Given the description of an element on the screen output the (x, y) to click on. 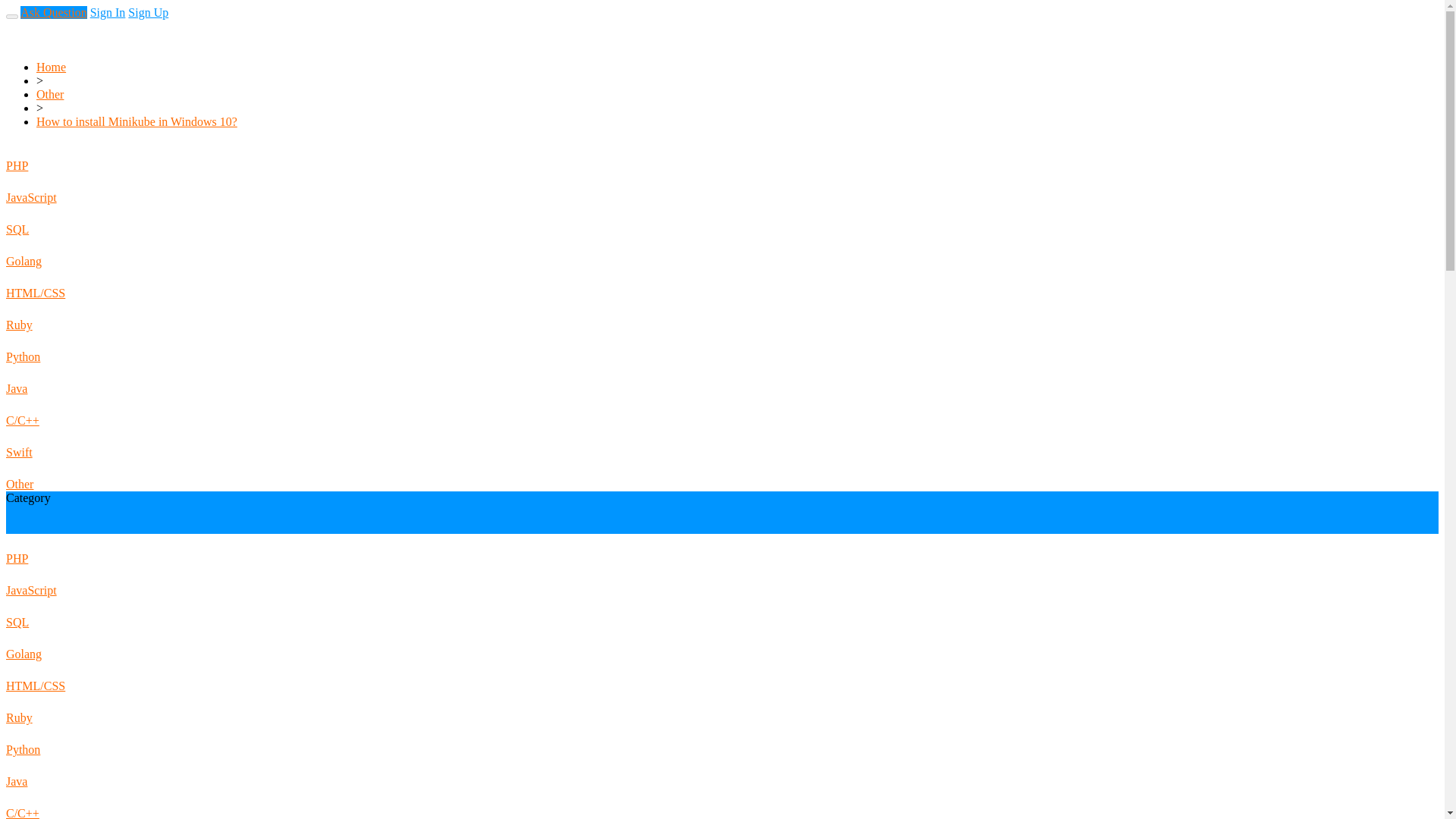
Sign In (107, 11)
Other (50, 93)
Home (50, 66)
Sign Up (148, 11)
How to install Minikube in Windows 10? (136, 121)
Ask Question (53, 11)
